Given the description of an element on the screen output the (x, y) to click on. 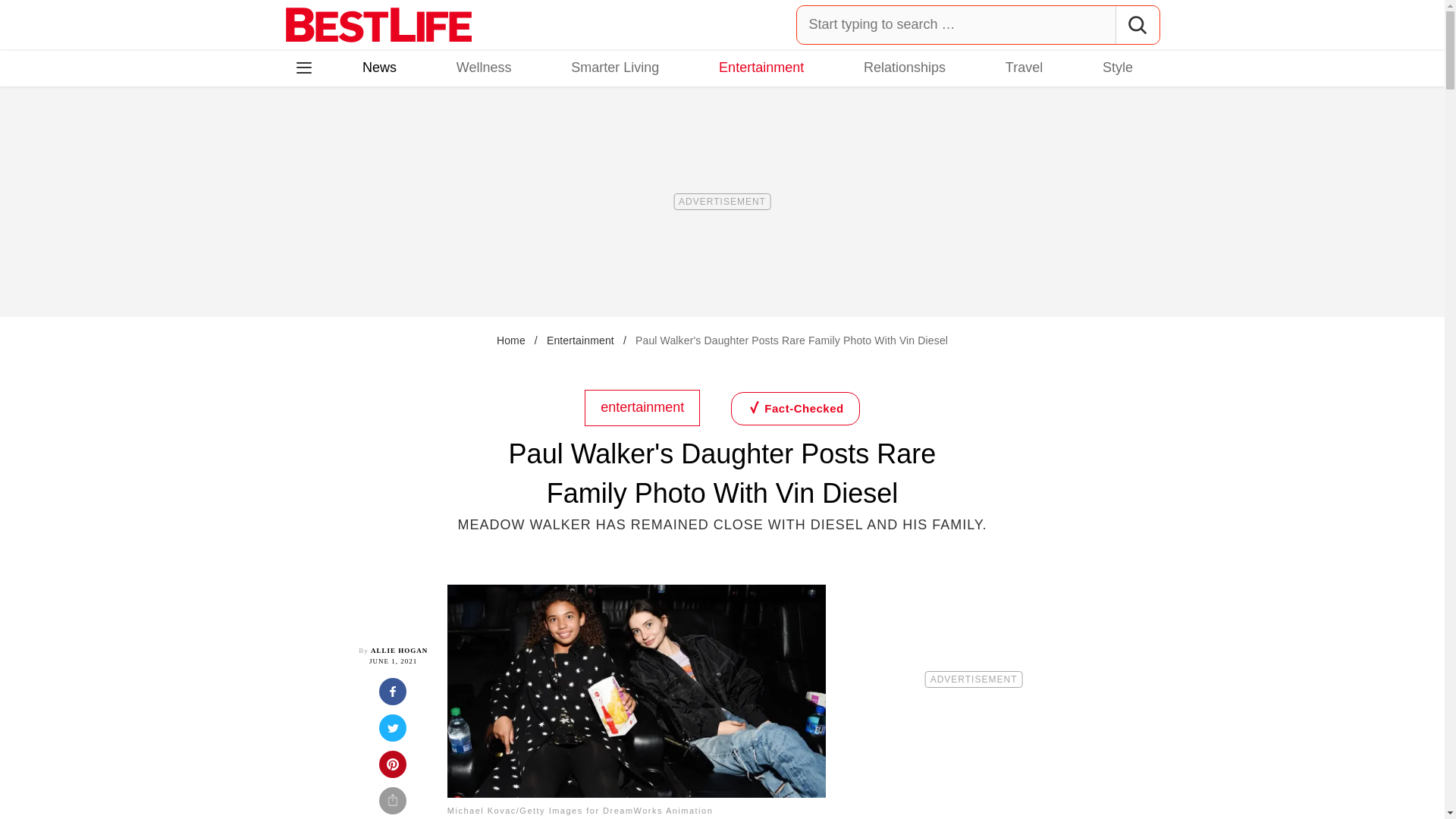
Relationships (904, 66)
Home (510, 340)
Instagram (357, 133)
Smarter Living (614, 66)
Facebook (314, 133)
Instagram (357, 133)
Style (1117, 66)
Facebook (314, 133)
Share on Pinterest (392, 769)
News (379, 66)
Travel (1023, 66)
Entertainment (580, 340)
Share on Facebook (392, 696)
Wellness (483, 66)
ALLIE HOGAN (399, 650)
